Given the description of an element on the screen output the (x, y) to click on. 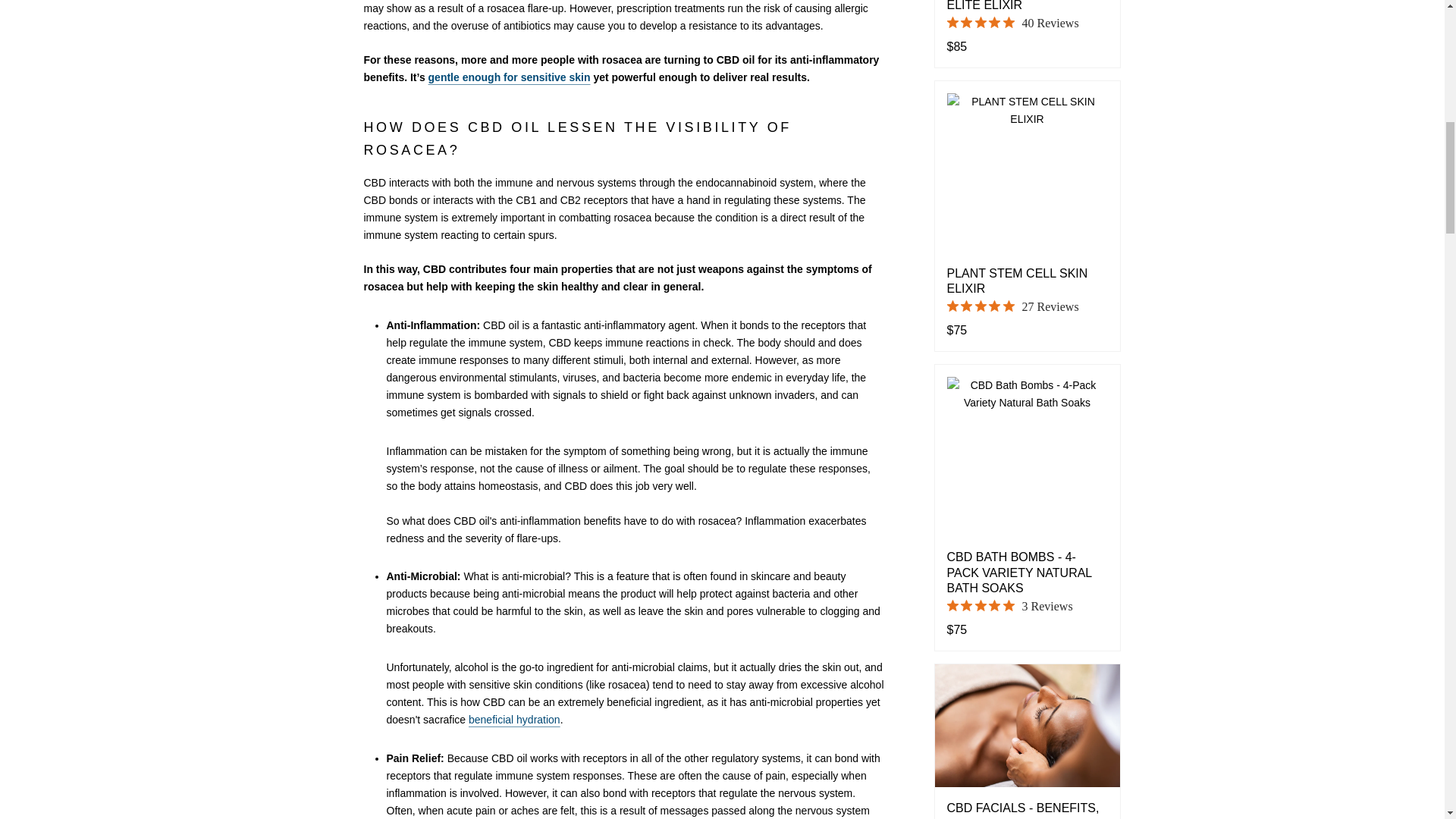
3 Reviews (1008, 606)
40 Reviews (1012, 23)
27 Reviews (1012, 306)
